Given the description of an element on the screen output the (x, y) to click on. 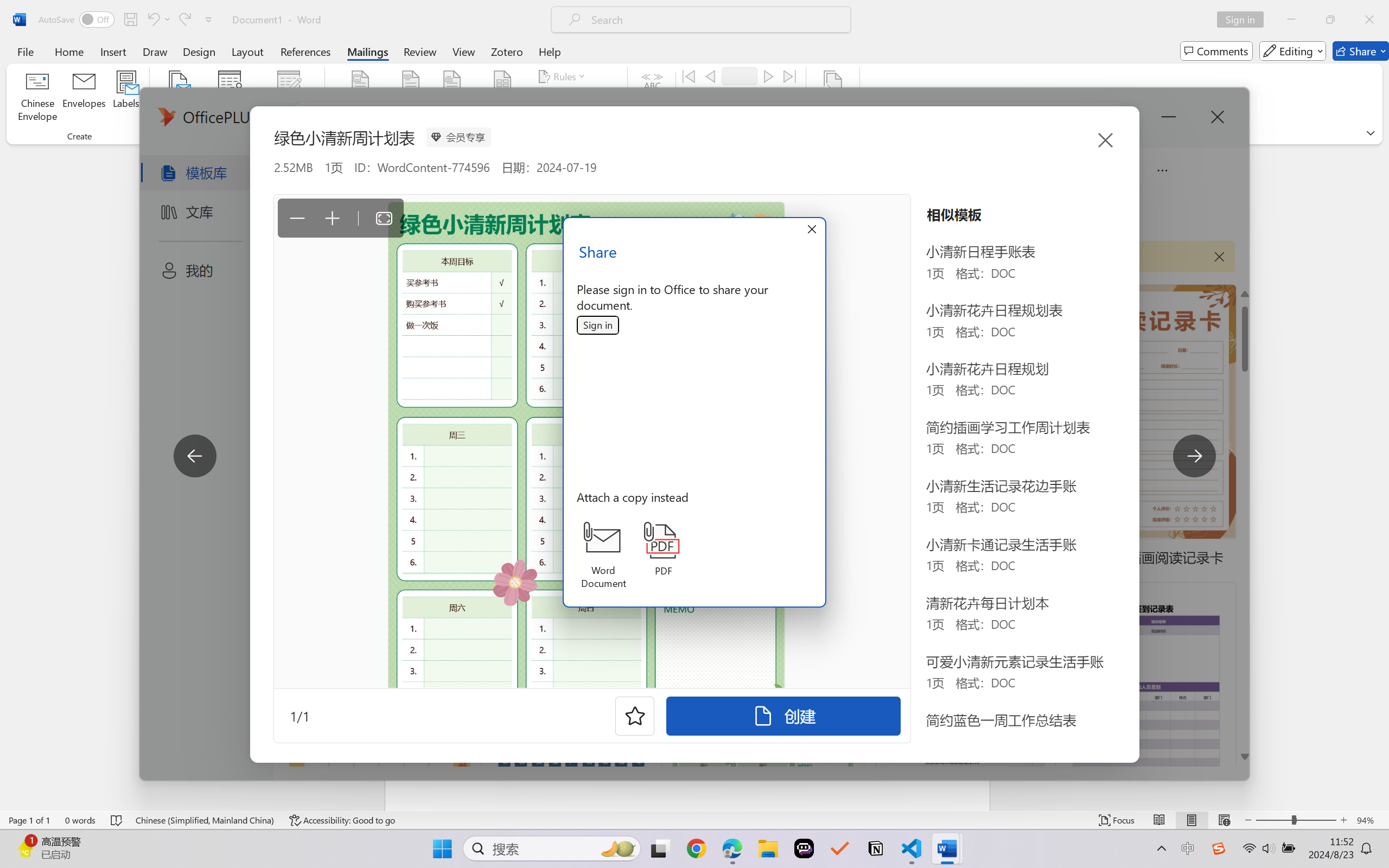
Insert Merge Field (502, 81)
Rules (563, 75)
Chinese Envelope... (37, 97)
Highlight Merge Fields (360, 97)
Finish & Merge (832, 97)
